Given the description of an element on the screen output the (x, y) to click on. 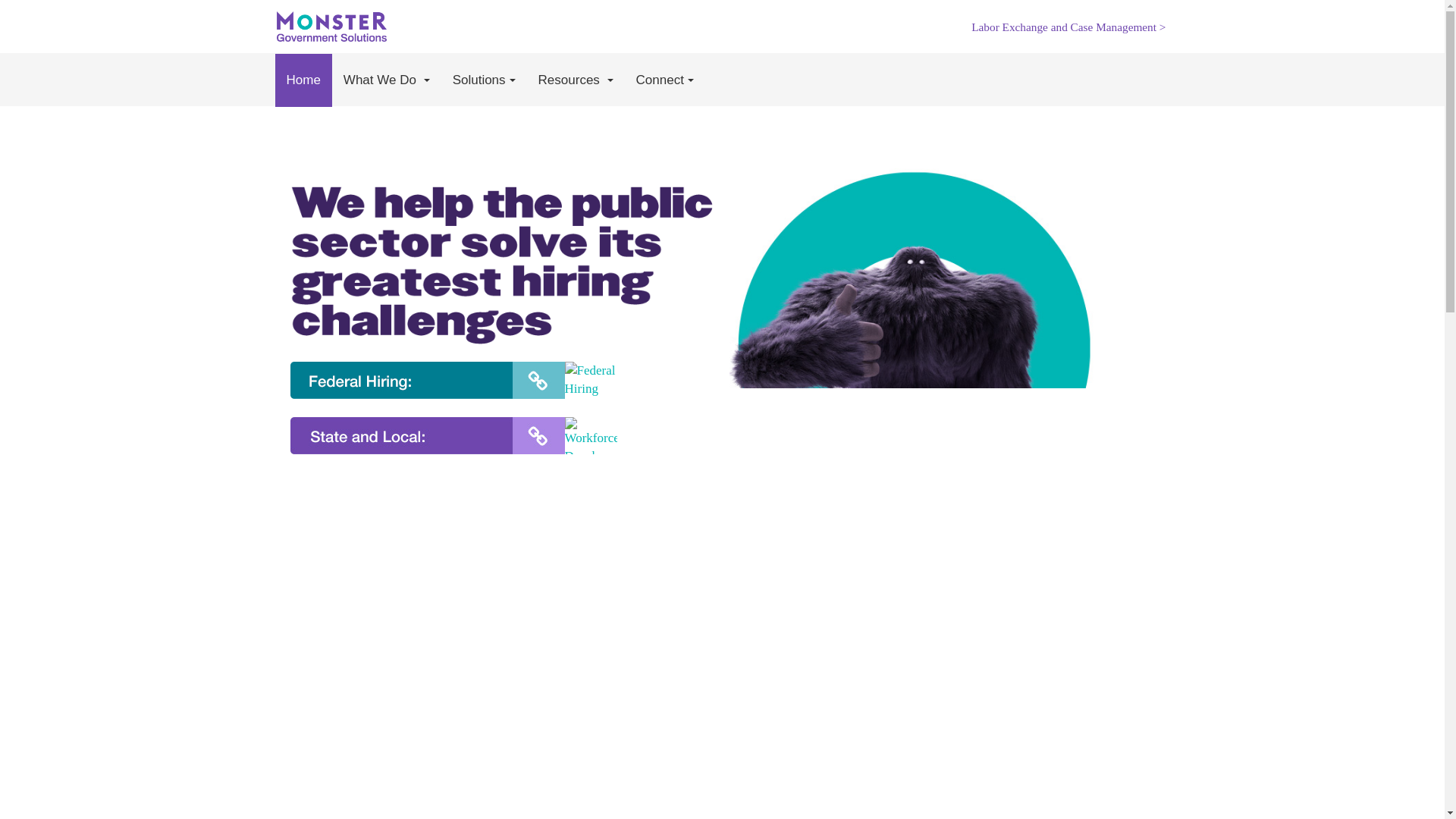
Solutions (484, 80)
What We Do (386, 80)
MonsterWorks teaser (589, 435)
Home (303, 80)
Monster Government Solutions Federal Overview (589, 379)
